Given the description of an element on the screen output the (x, y) to click on. 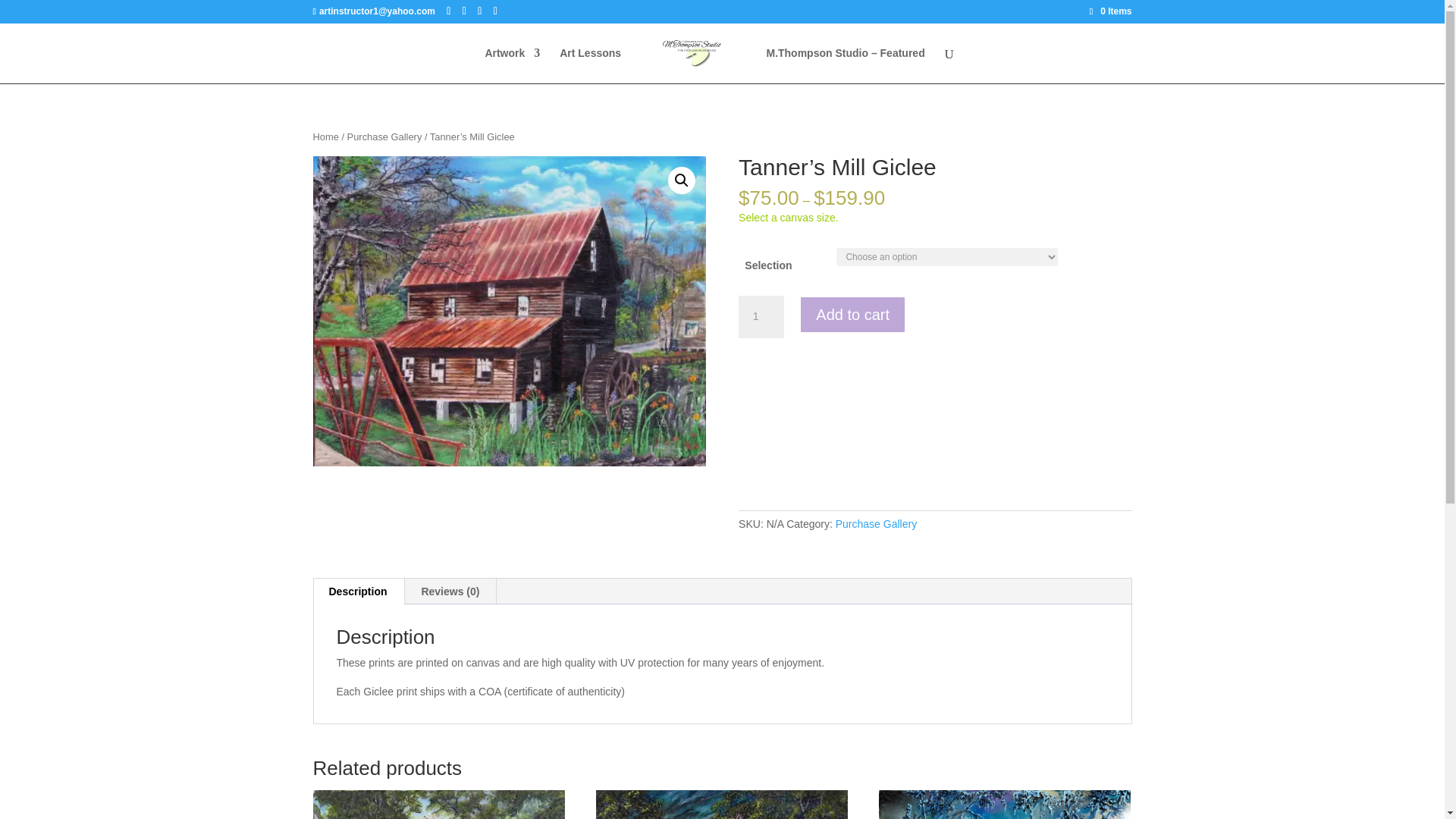
1 (761, 316)
Purchase Gallery (384, 136)
Art Lessons (590, 65)
PayPal (934, 380)
0 Items (1110, 10)
Grace When The World Is Cold (1005, 804)
Home (325, 136)
Purchase Gallery (876, 523)
Description (358, 591)
Artwork (512, 65)
